Given the description of an element on the screen output the (x, y) to click on. 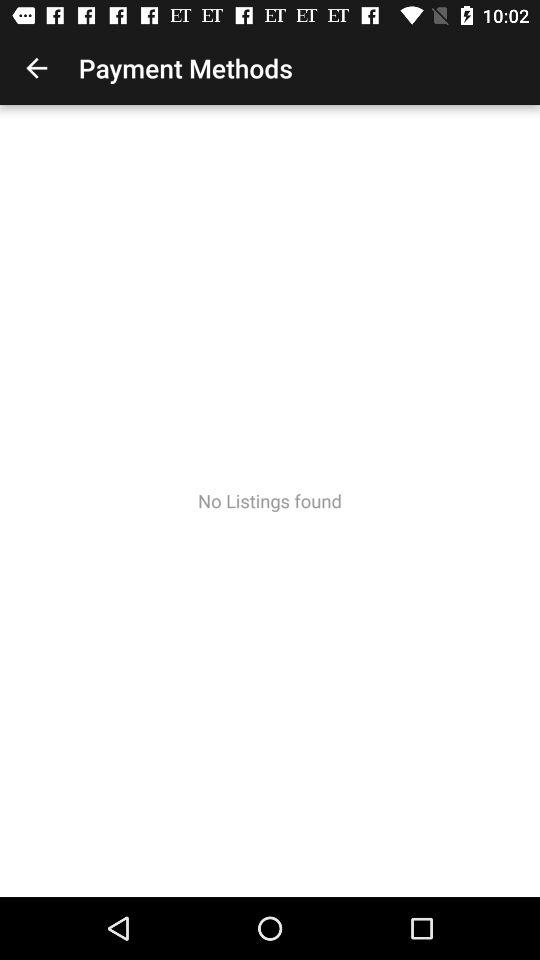
click icon above no listings found item (36, 68)
